Given the description of an element on the screen output the (x, y) to click on. 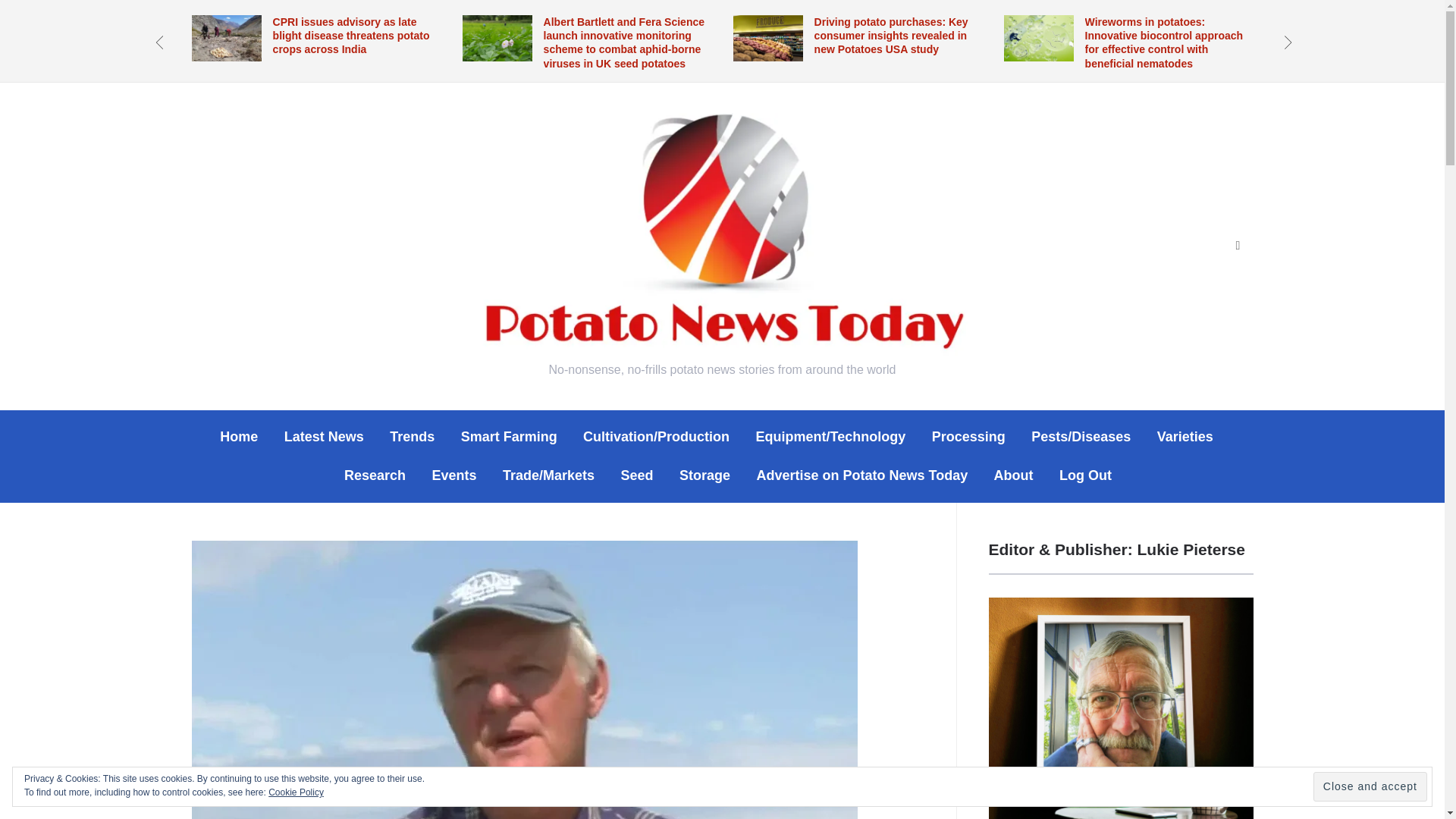
Close and accept (1369, 786)
Search (1237, 245)
